Given the description of an element on the screen output the (x, y) to click on. 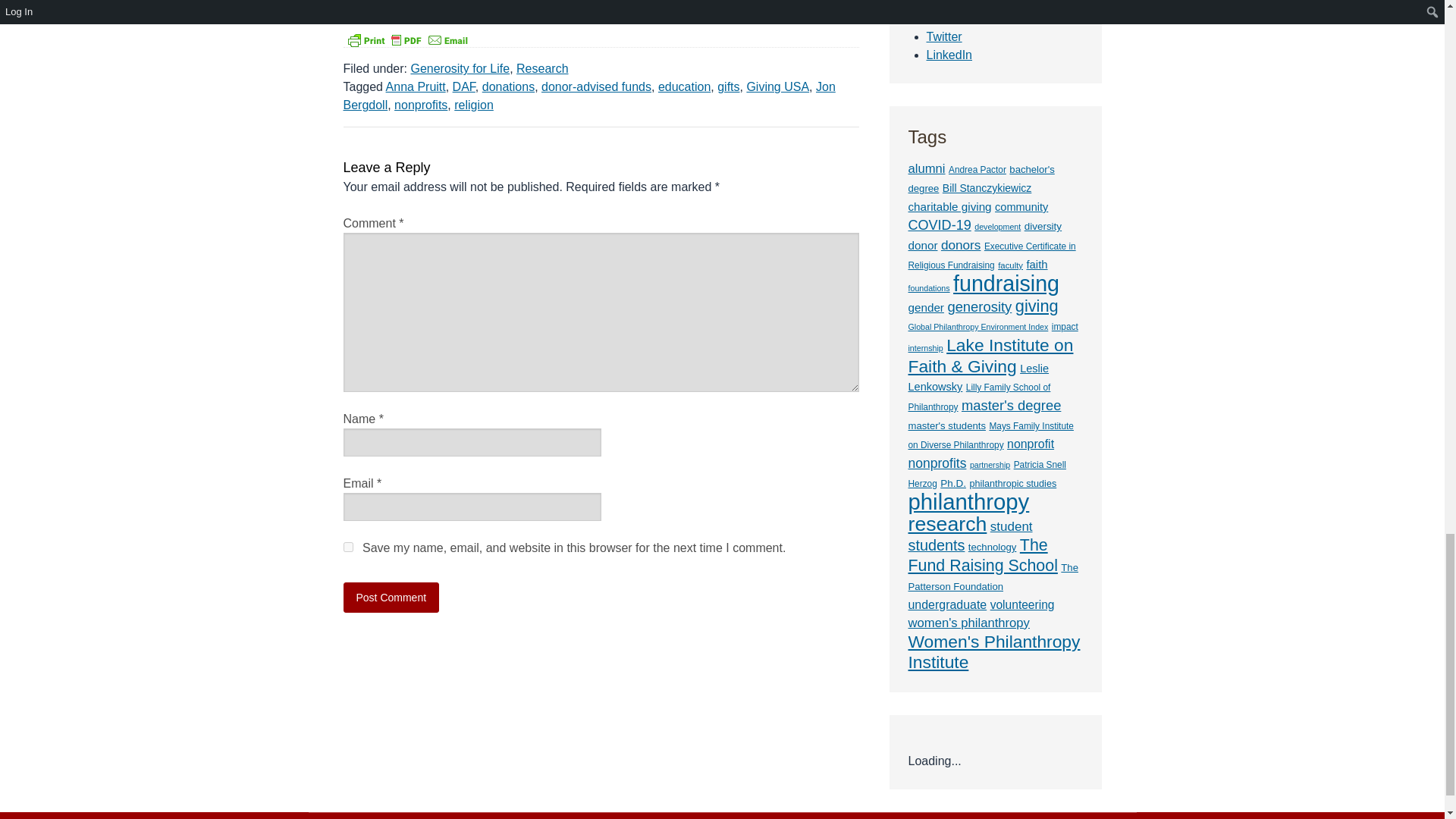
original article (379, 2)
Giving USA (777, 86)
Subscribe me! (1050, 285)
Anna Pruitt (415, 86)
Research (541, 68)
gifts (728, 86)
donations (507, 86)
Post Comment (390, 597)
Generosity for Life (459, 68)
yes (347, 547)
DAF (464, 86)
education (684, 86)
donor-advised funds (595, 86)
